Given the description of an element on the screen output the (x, y) to click on. 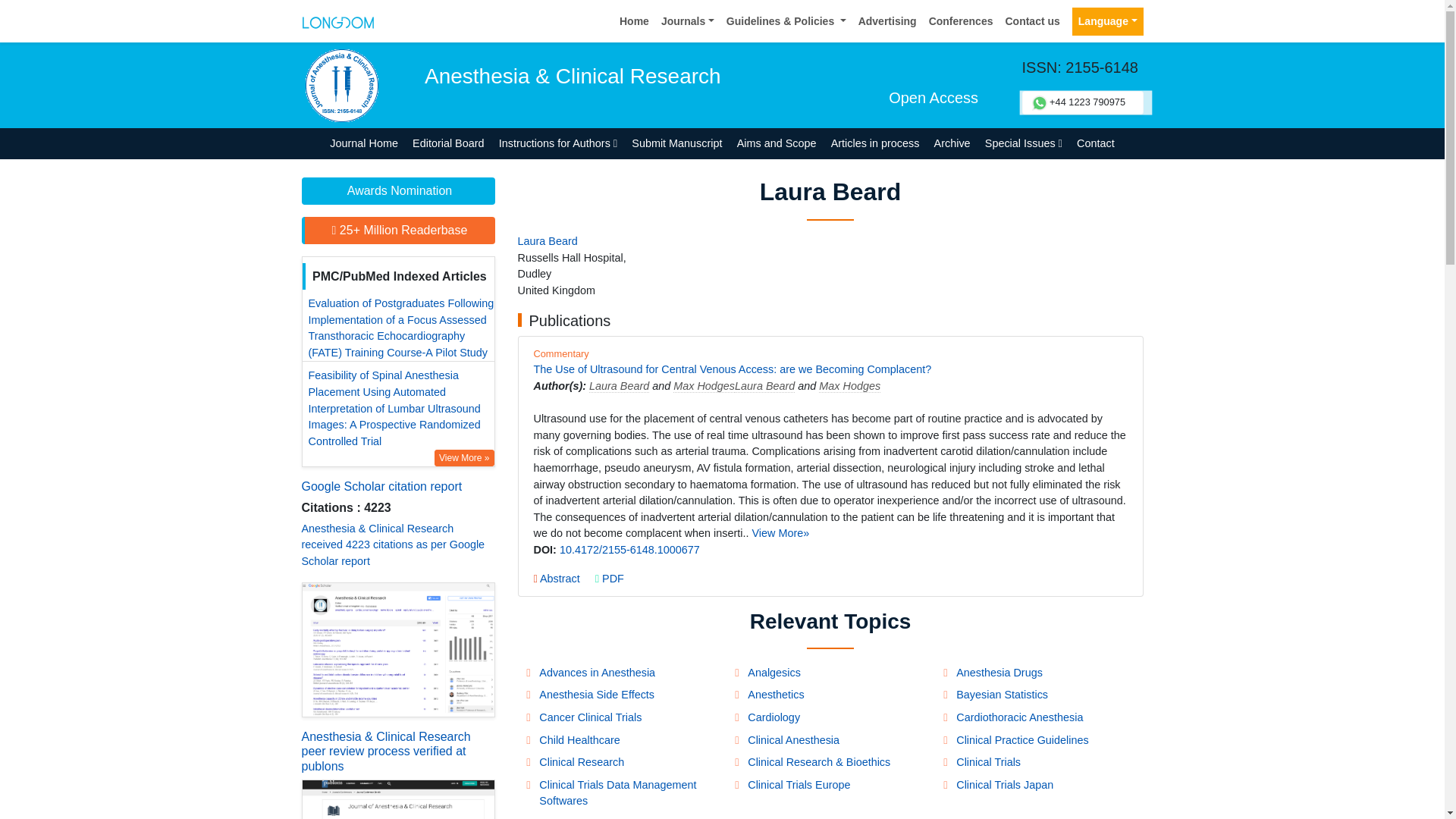
Language (1106, 21)
Instructions for Authors (558, 142)
Home (633, 21)
Longdom Publishing S.L (337, 20)
Advertising (887, 21)
Submit Manuscript (676, 142)
Home (633, 21)
Special Issues (1022, 142)
Conferences (960, 21)
Journal Home (364, 142)
